Given the description of an element on the screen output the (x, y) to click on. 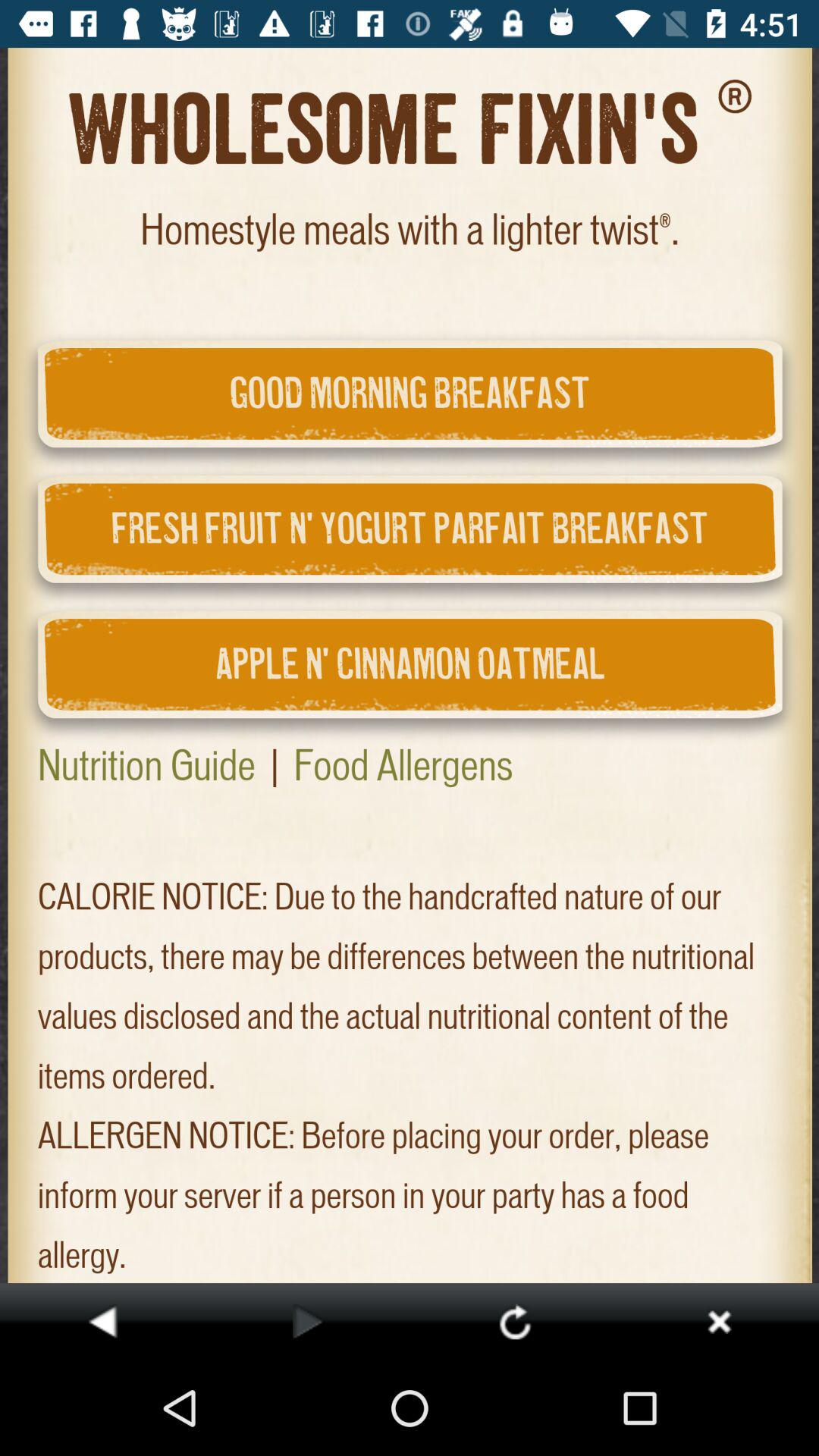
next page (307, 1321)
